Given the description of an element on the screen output the (x, y) to click on. 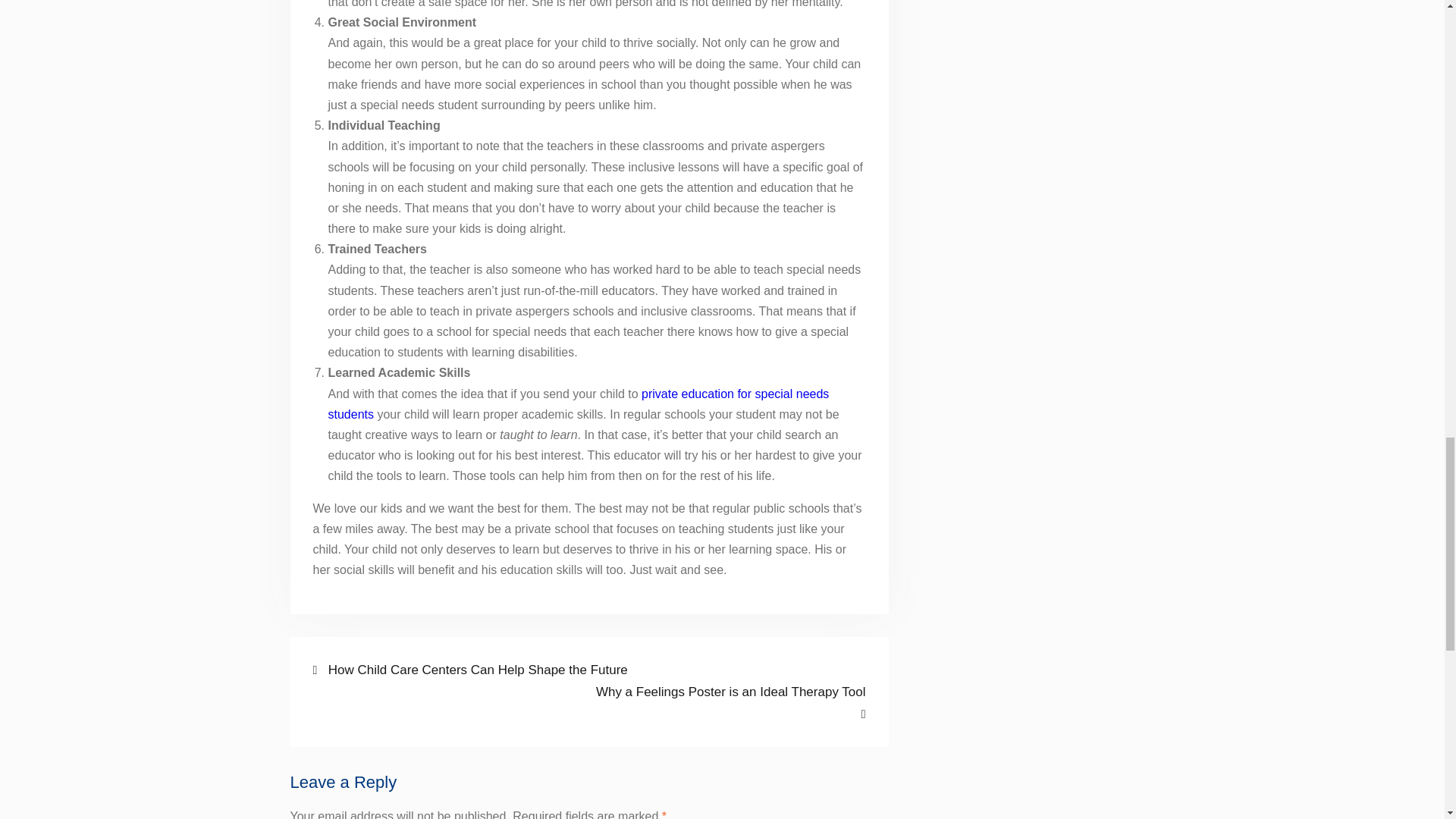
private education for special needs students (727, 702)
Special education (577, 403)
